Given the description of an element on the screen output the (x, y) to click on. 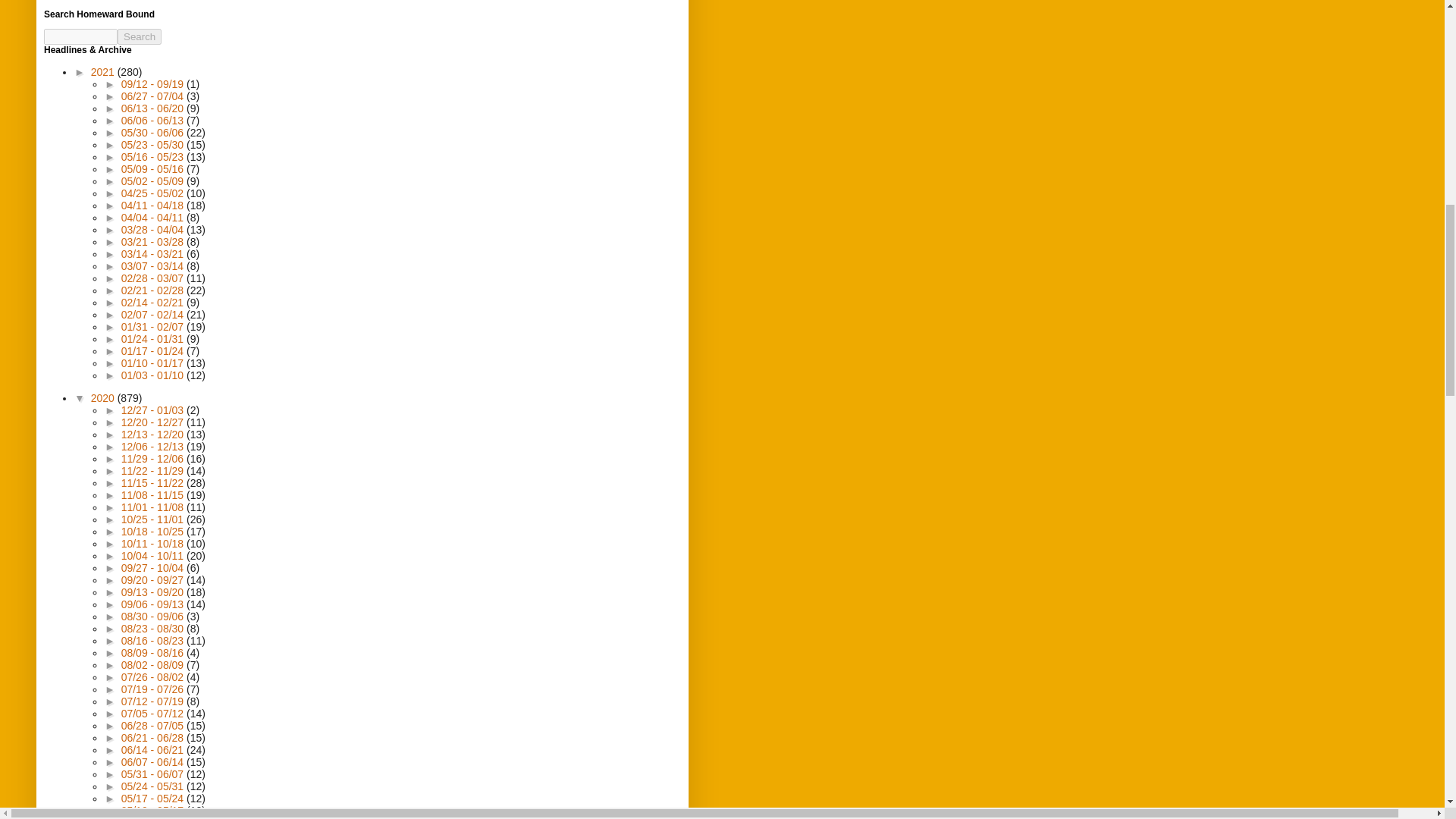
search (80, 36)
2021 (103, 71)
Search (139, 36)
Search (139, 36)
search (139, 36)
Search (139, 36)
